Given the description of an element on the screen output the (x, y) to click on. 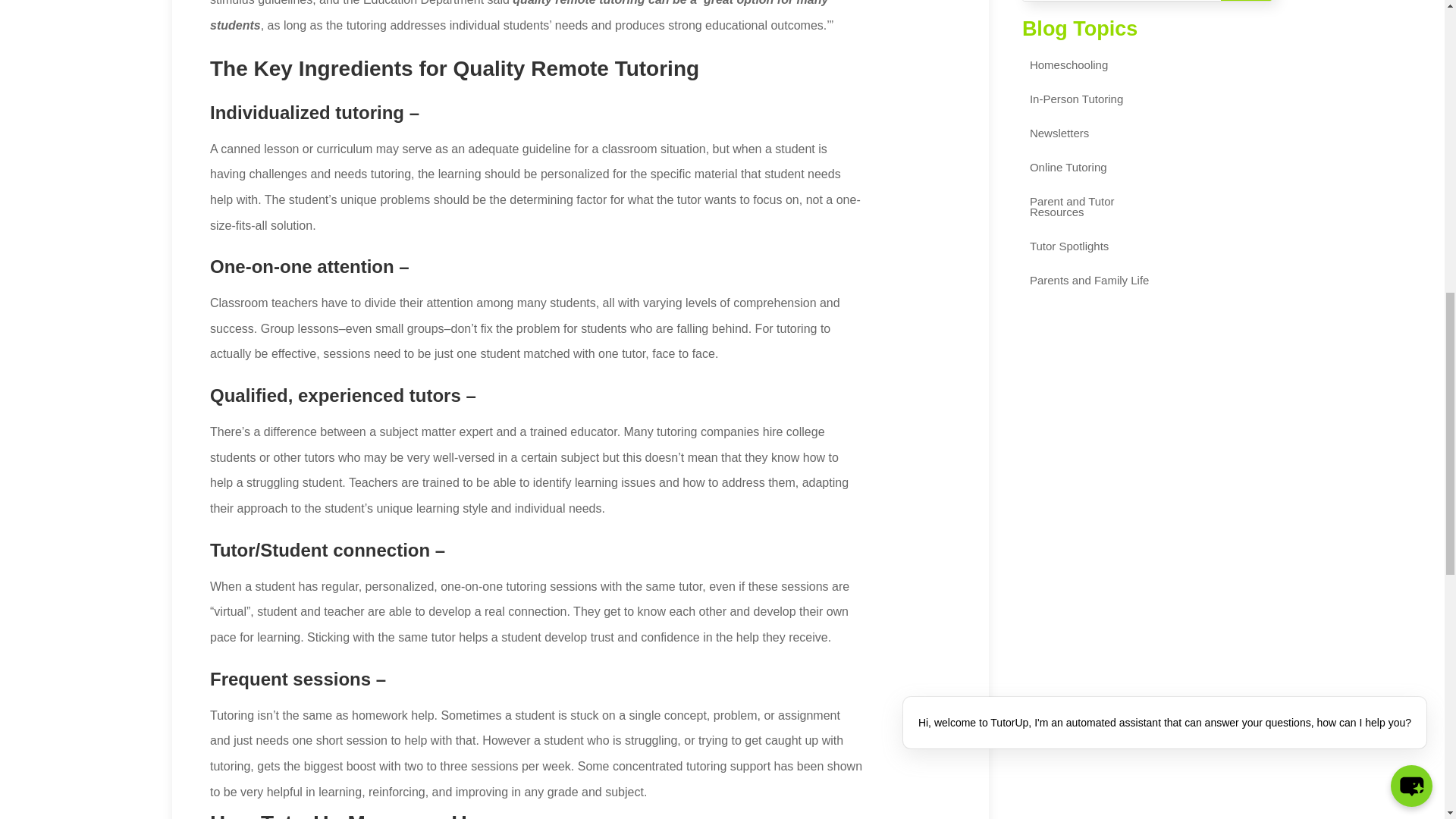
Search (1246, 0)
Search (1246, 0)
